Given the description of an element on the screen output the (x, y) to click on. 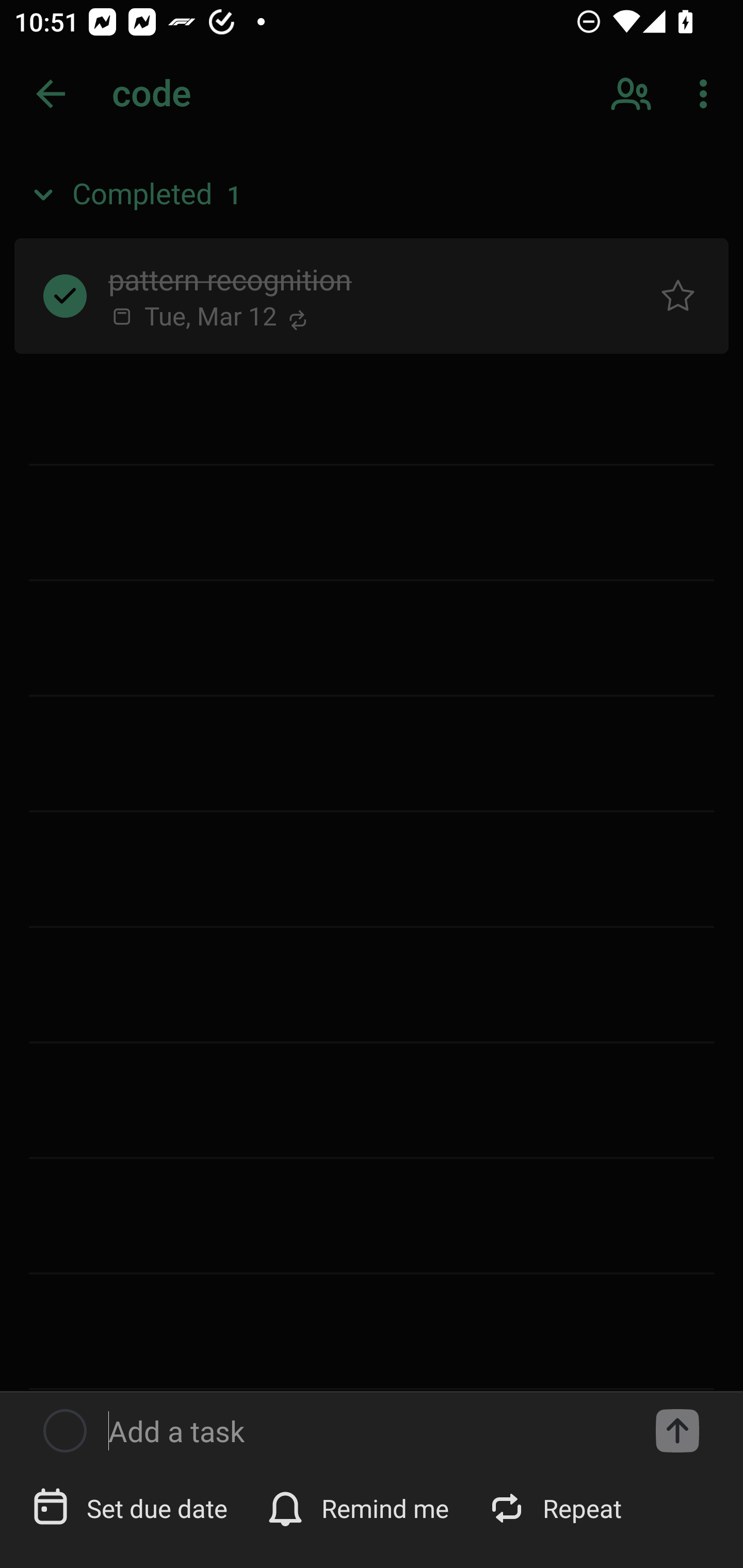
Back (50, 93)
testappium002@outlook.com Enter search (185, 93)
Sharing options (632, 93)
More options (706, 93)
Completed, 1 item, Expanded Completed 1 (371, 195)
Completed task pattern recognition, Button (64, 295)
Normal task pattern recognition, Button (677, 295)
Add a task (676, 1430)
Add a task (366, 1430)
Set due date (131, 1507)
Remind me (359, 1507)
Repeat (556, 1507)
